Given the description of an element on the screen output the (x, y) to click on. 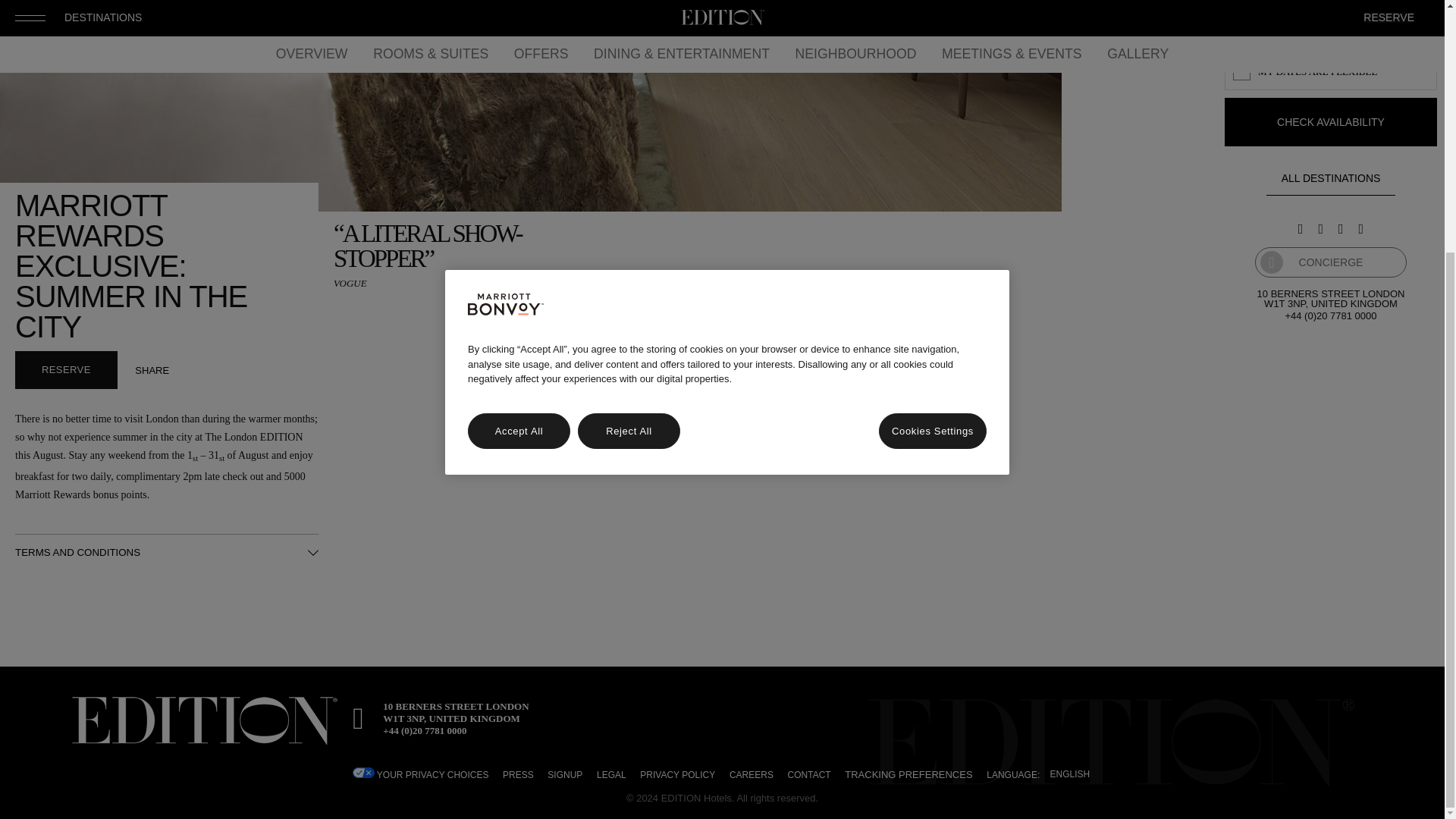
CHECK AVAILABILITY (1330, 121)
